Given the description of an element on the screen output the (x, y) to click on. 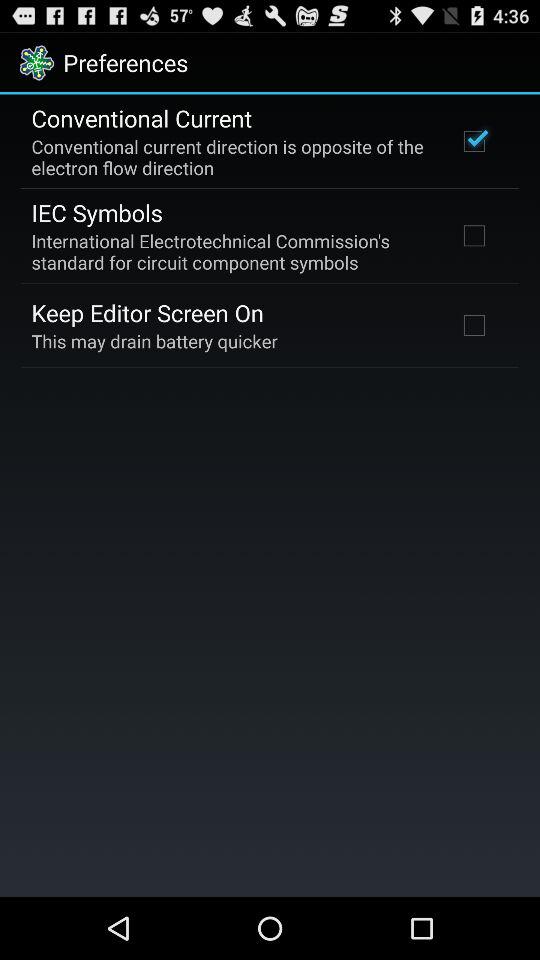
jump until this may drain icon (154, 340)
